Given the description of an element on the screen output the (x, y) to click on. 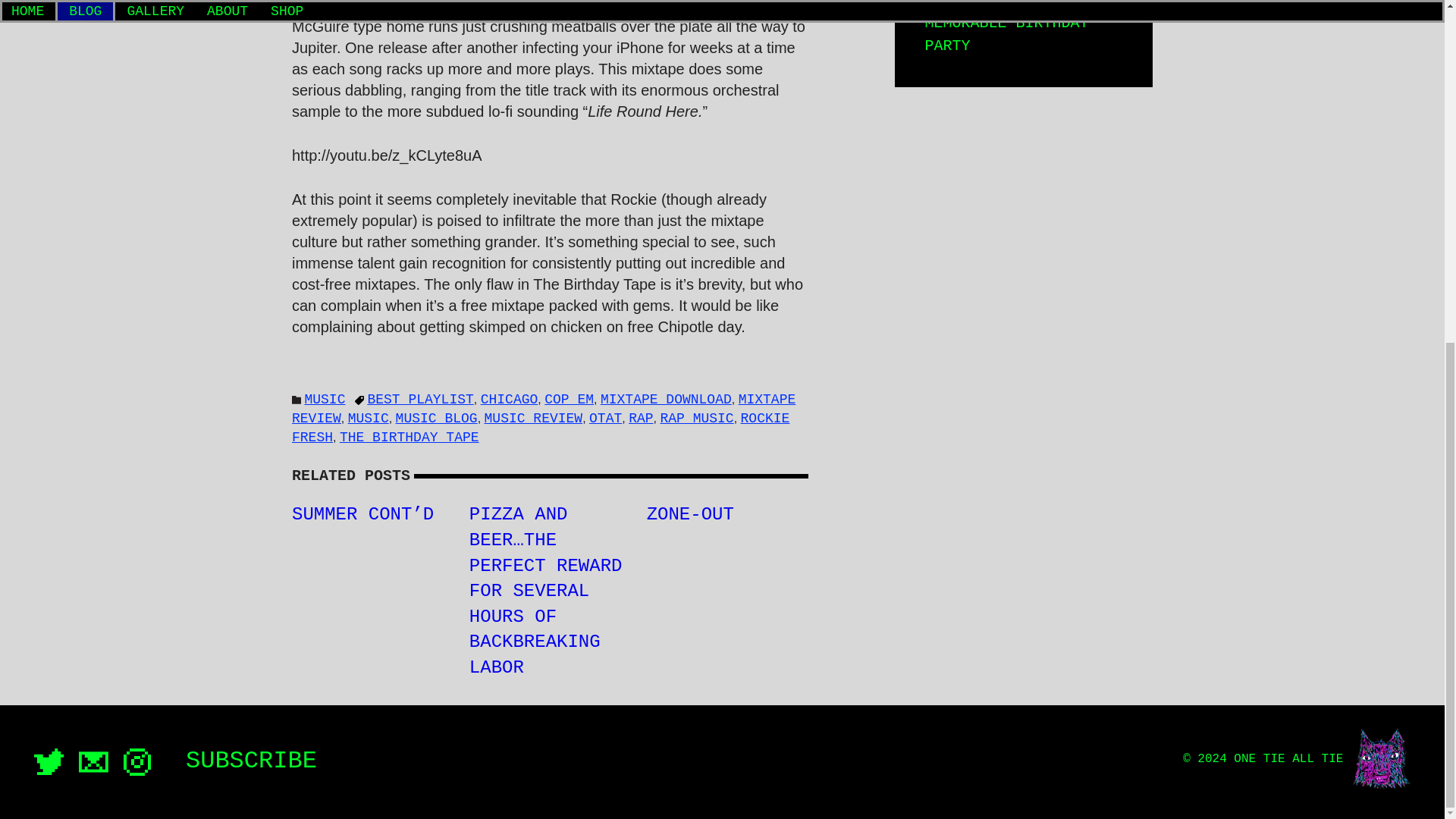
MUSIC BLOG (436, 418)
ROCKIE FRESH (540, 428)
MIXTAPE DOWNLOAD (665, 399)
ZONE-OUT (689, 514)
yeah baby! (1380, 758)
CHICAGO (509, 399)
OTAT (605, 418)
MIXTAPE REVIEW (543, 408)
CHECK YUR EMAIL (92, 762)
MUSIC (324, 399)
BEST PLAYLIST (419, 399)
THE BIRTHDAY TAPE (409, 437)
DONT AT ME (48, 761)
COP EM (569, 399)
cat cat categories (296, 399)
